Given the description of an element on the screen output the (x, y) to click on. 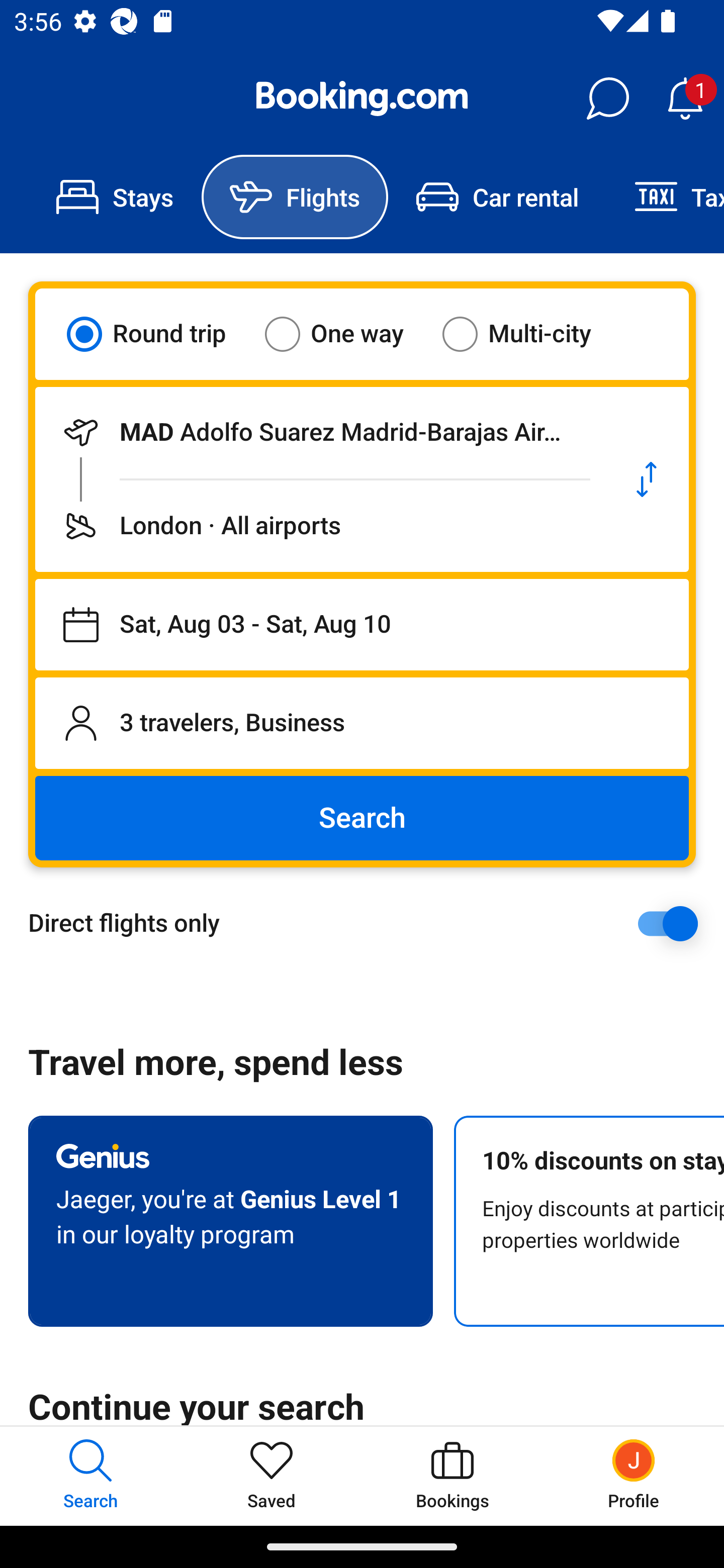
Messages (607, 98)
Notifications (685, 98)
Stays (114, 197)
Flights (294, 197)
Car rental (497, 197)
Taxi (665, 197)
One way (346, 333)
Multi-city (528, 333)
Swap departure location and destination (646, 479)
Flying to London · All airports (319, 525)
Departing on Sat, Aug 03, returning on Sat, Aug 10 (361, 624)
3 travelers, Business (361, 722)
Search (361, 818)
Direct flights only (369, 923)
Saved (271, 1475)
Bookings (452, 1475)
Profile (633, 1475)
